Given the description of an element on the screen output the (x, y) to click on. 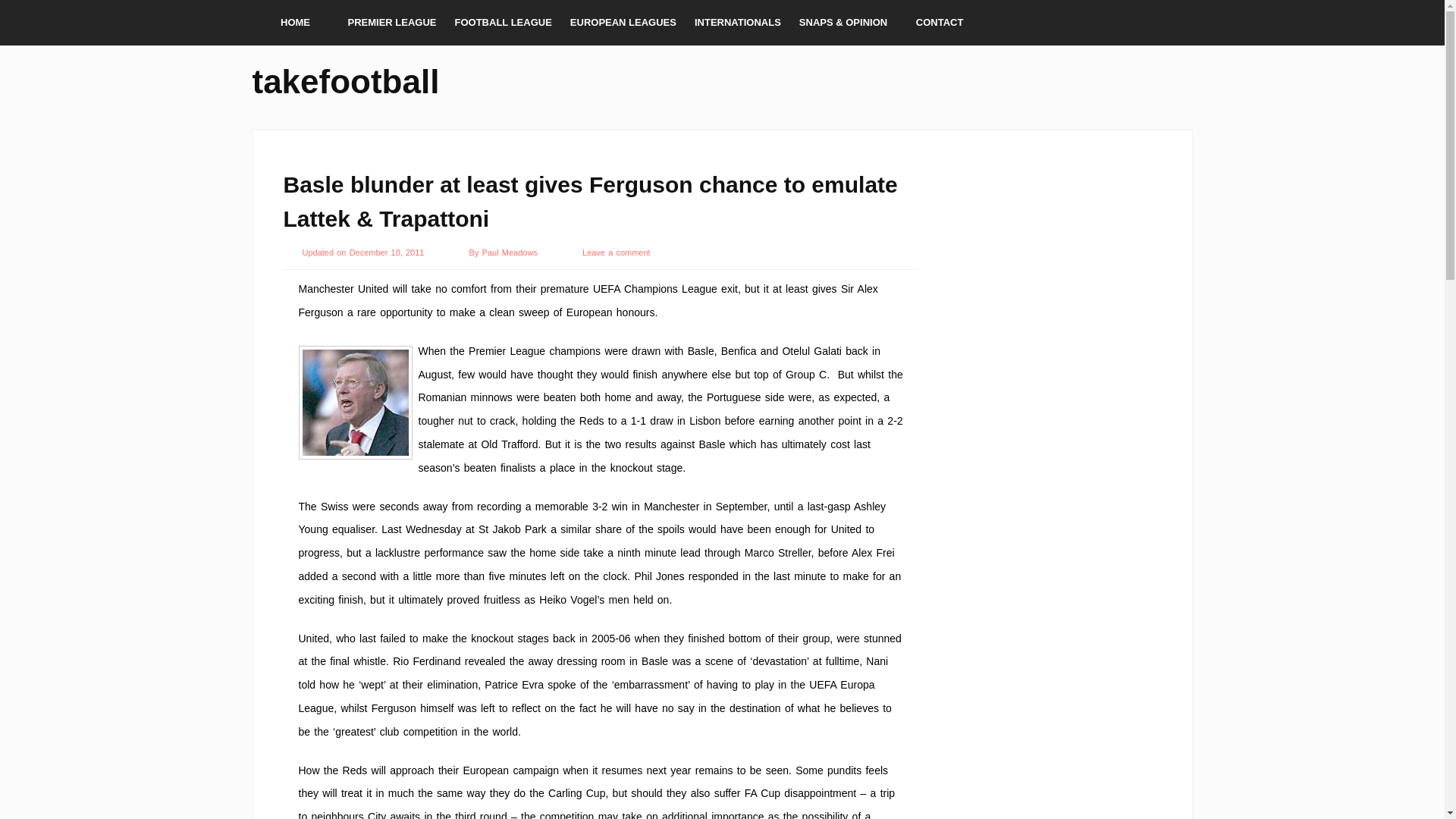
EUROPEAN LEAGUES (622, 22)
FOOTBALL LEAGUE (502, 22)
takefootball (345, 79)
CONTACT (939, 22)
INTERNATIONALS (737, 22)
Paul Meadows (510, 252)
PREMIER LEAGUE (391, 22)
Sir Alex Ferguson (355, 402)
HOME (294, 22)
Leave a comment (616, 252)
